Given the description of an element on the screen output the (x, y) to click on. 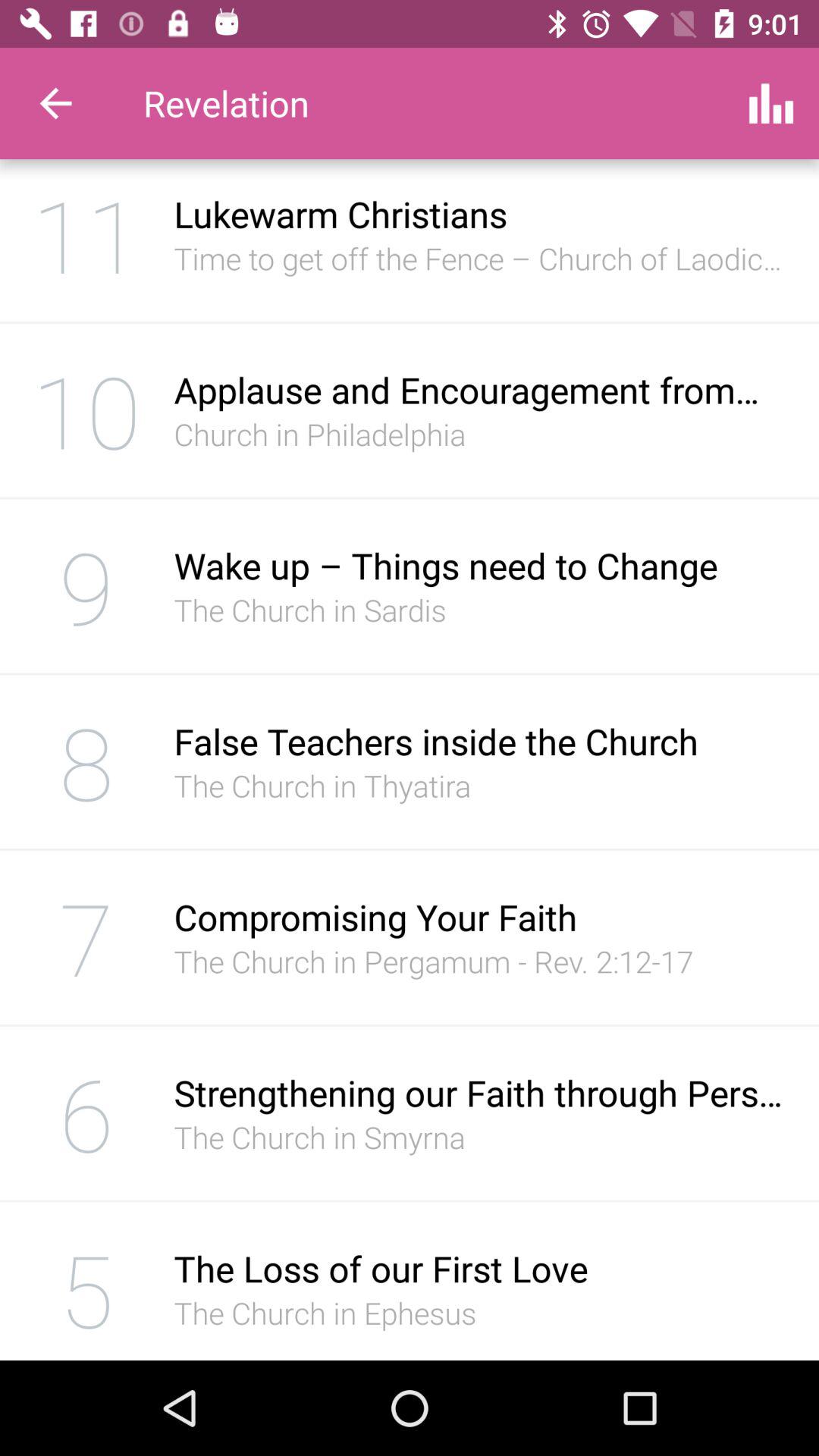
turn on item to the right of the 11 icon (480, 258)
